Given the description of an element on the screen output the (x, y) to click on. 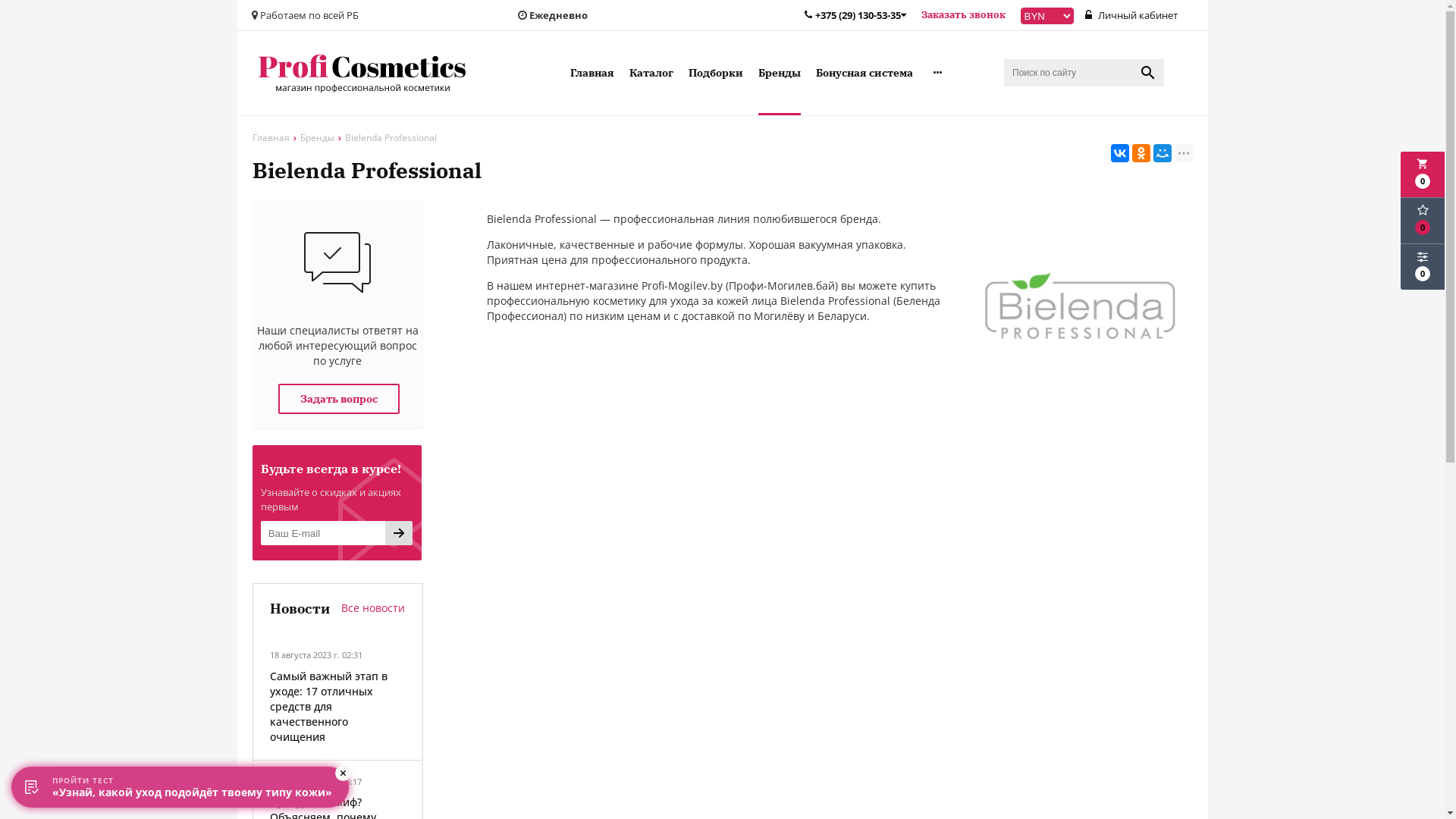
0 Element type: text (1422, 266)
local_grocery_store
0 Element type: text (1422, 174)
search Element type: text (1148, 72)
0 Element type: text (1422, 220)
+375 (29) 130-53-35 Element type: text (854, 15)
